Given the description of an element on the screen output the (x, y) to click on. 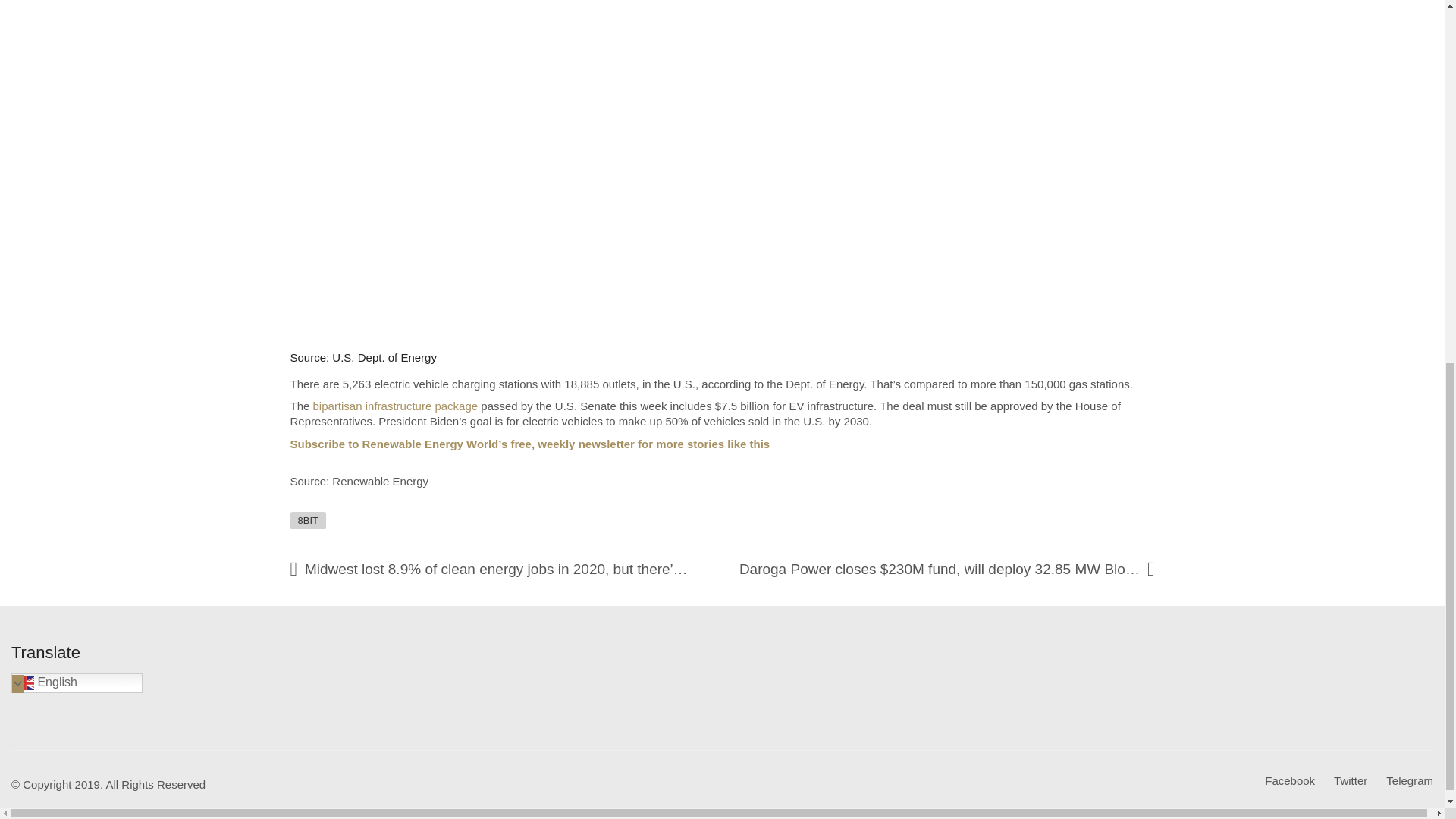
Twitter (1350, 780)
Facebook (1289, 780)
Telegram (1409, 780)
